Given the description of an element on the screen output the (x, y) to click on. 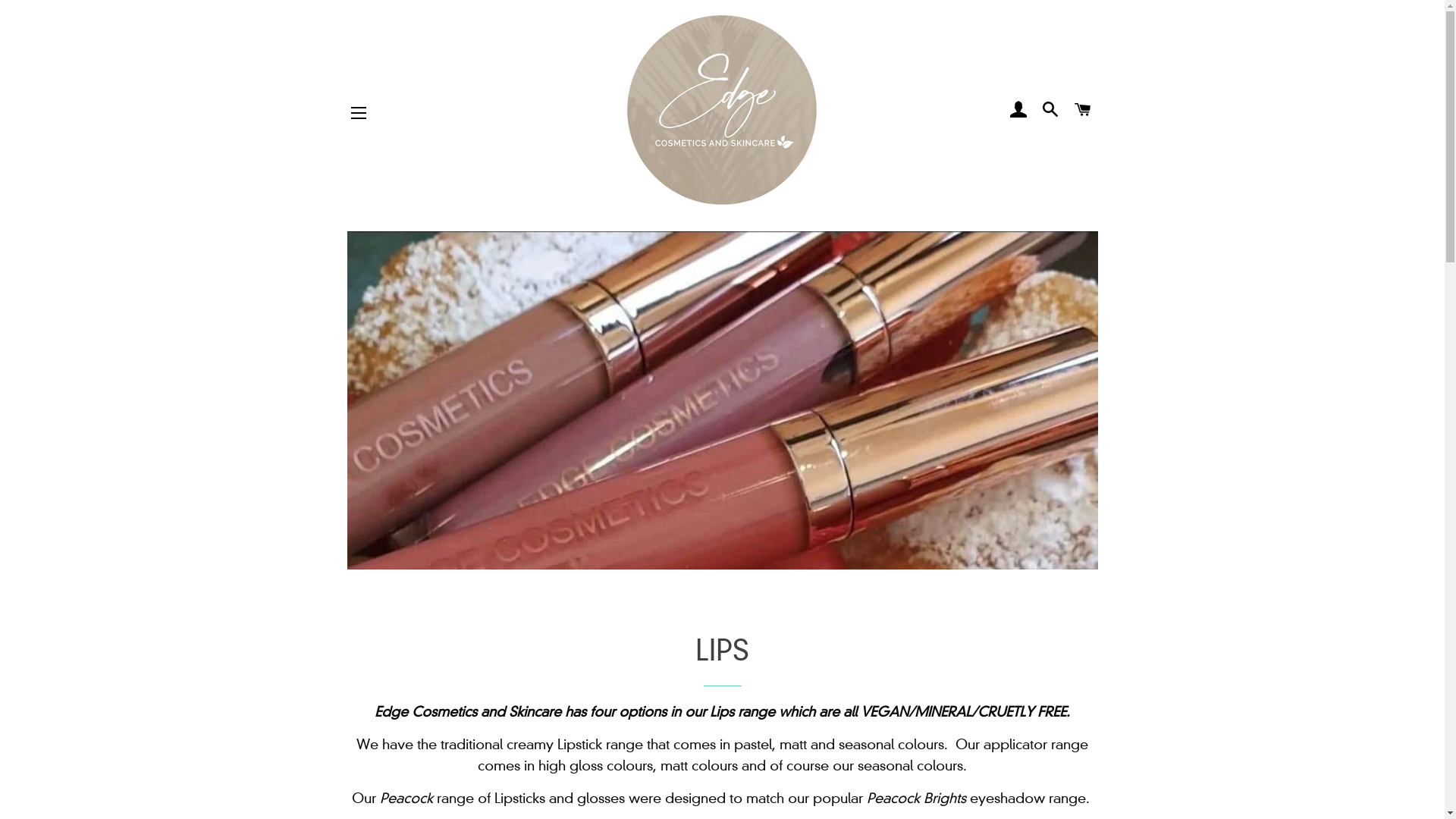
SEARCH Element type: text (1050, 109)
LOG IN Element type: text (1018, 109)
CART Element type: text (1082, 109)
SITE NAVIGATION Element type: text (358, 112)
